Given the description of an element on the screen output the (x, y) to click on. 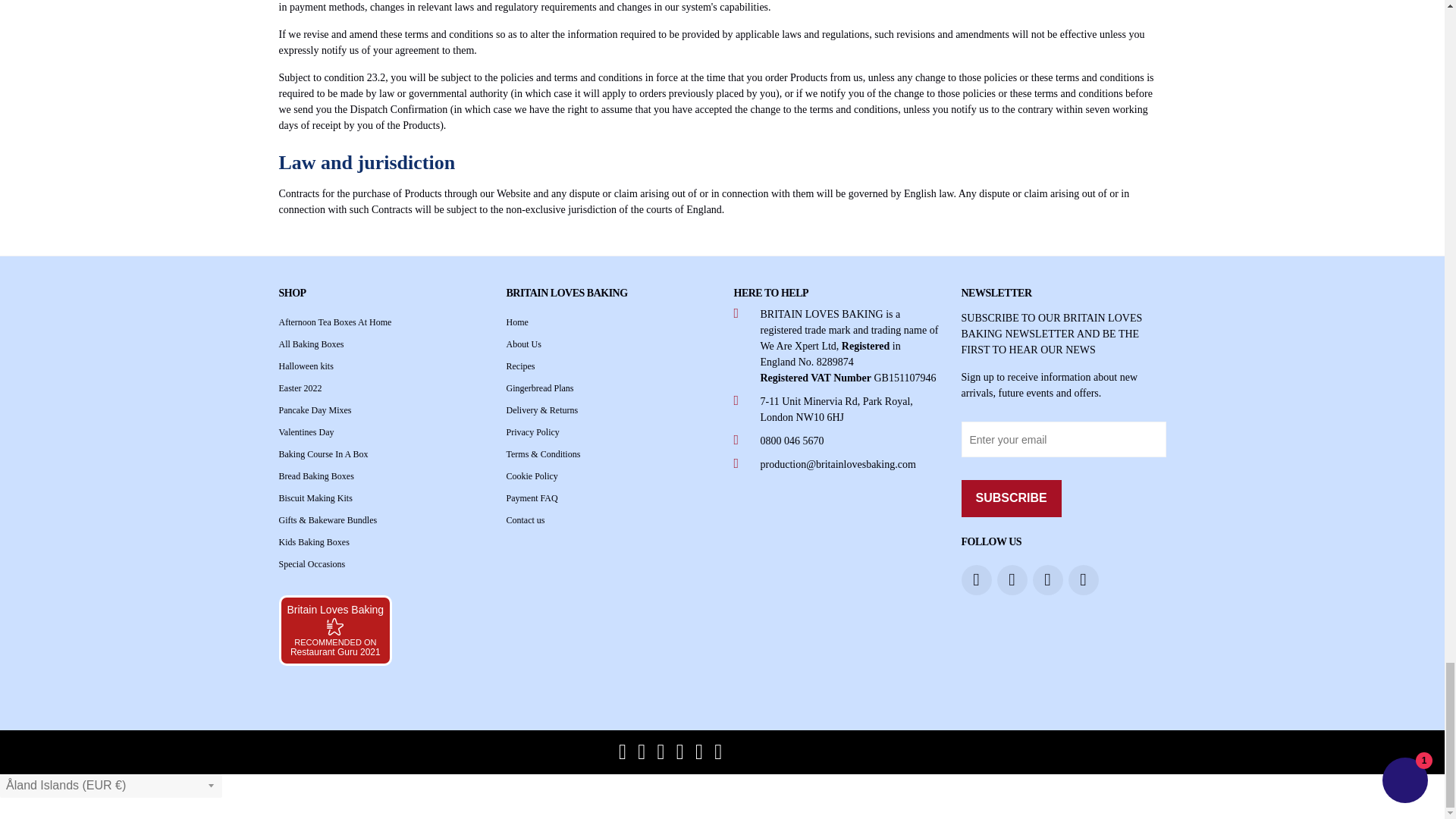
Biscuit Making Kits (315, 498)
About Us (523, 344)
Halloween kits (306, 366)
Special Occasions (312, 563)
Afternoon Tea Boxes At Home (335, 321)
Bread Baking Boxes (316, 475)
Easter 2022 (300, 388)
Privacy Policy (532, 431)
Recipes (520, 366)
Baking Course In A Box (323, 453)
Kids Baking Boxes (314, 542)
Gingerbread Plans (539, 388)
Pancake Day Mixes (315, 409)
All Baking Boxes (311, 344)
Home (517, 321)
